Given the description of an element on the screen output the (x, y) to click on. 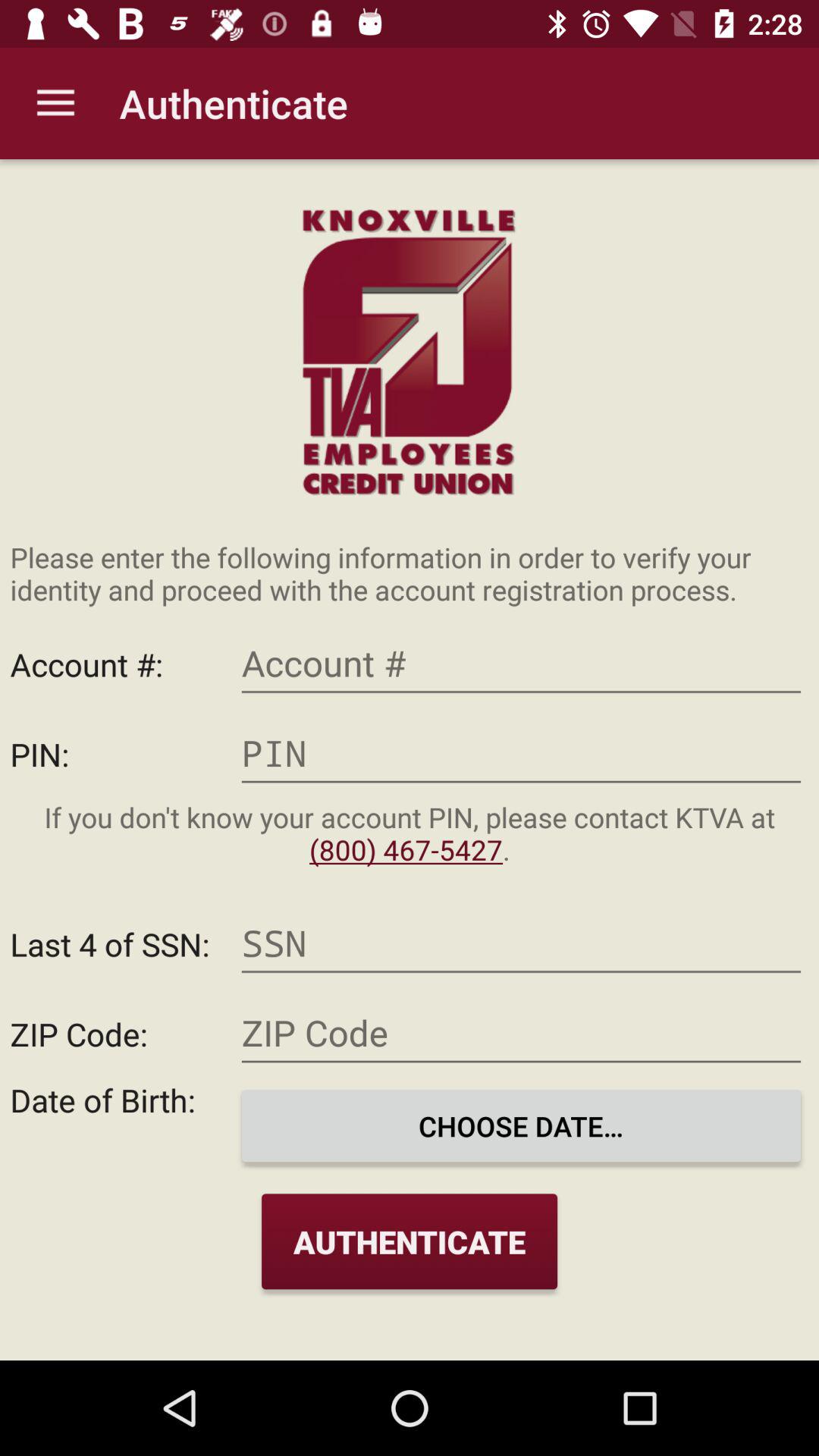
enter zip code (520, 1033)
